Given the description of an element on the screen output the (x, y) to click on. 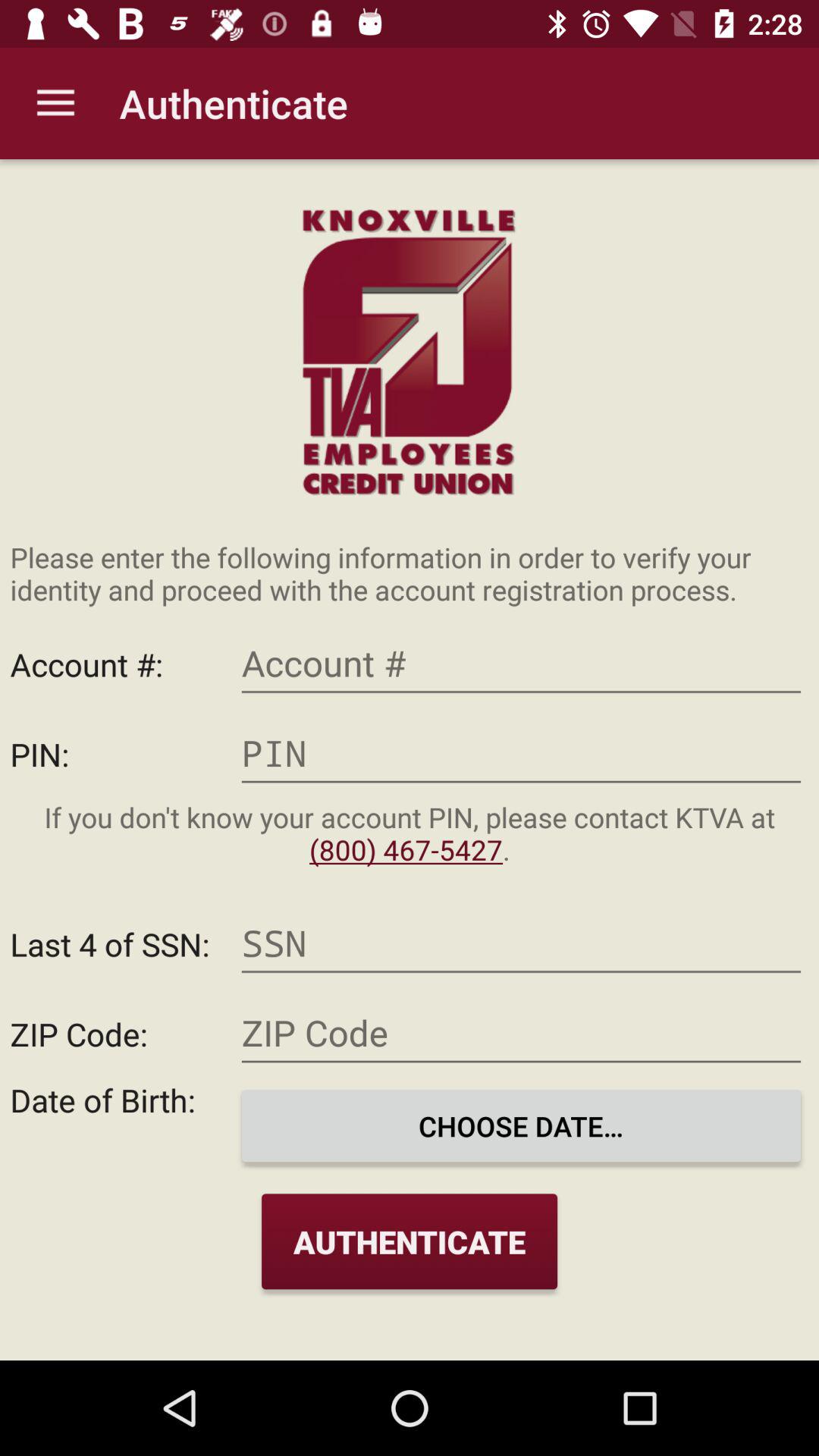
enter zip code (520, 1033)
